Given the description of an element on the screen output the (x, y) to click on. 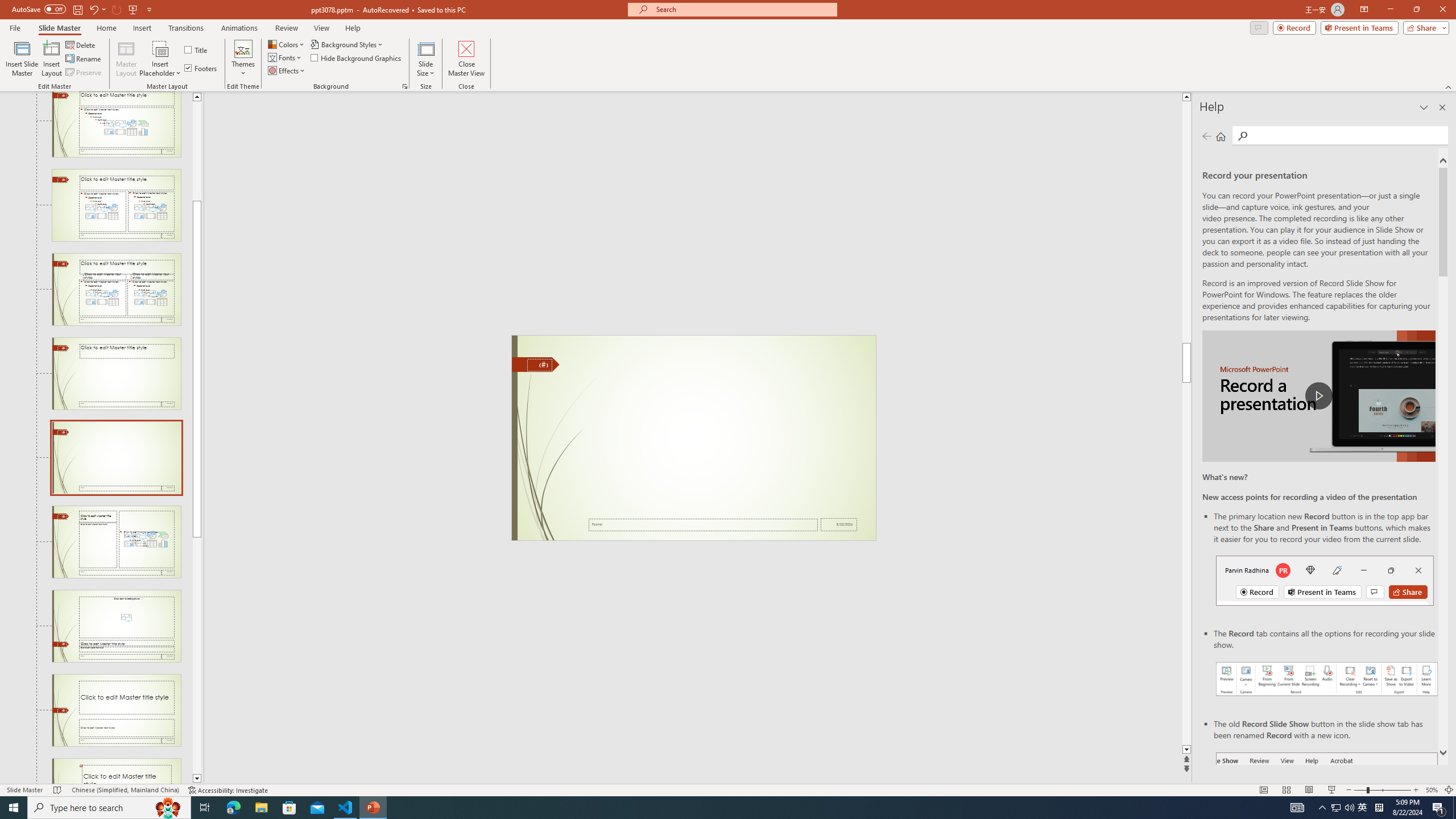
Rename (84, 58)
Zoom 50% (1431, 790)
Previous page (1206, 136)
Freeform 11 (535, 364)
